Given the description of an element on the screen output the (x, y) to click on. 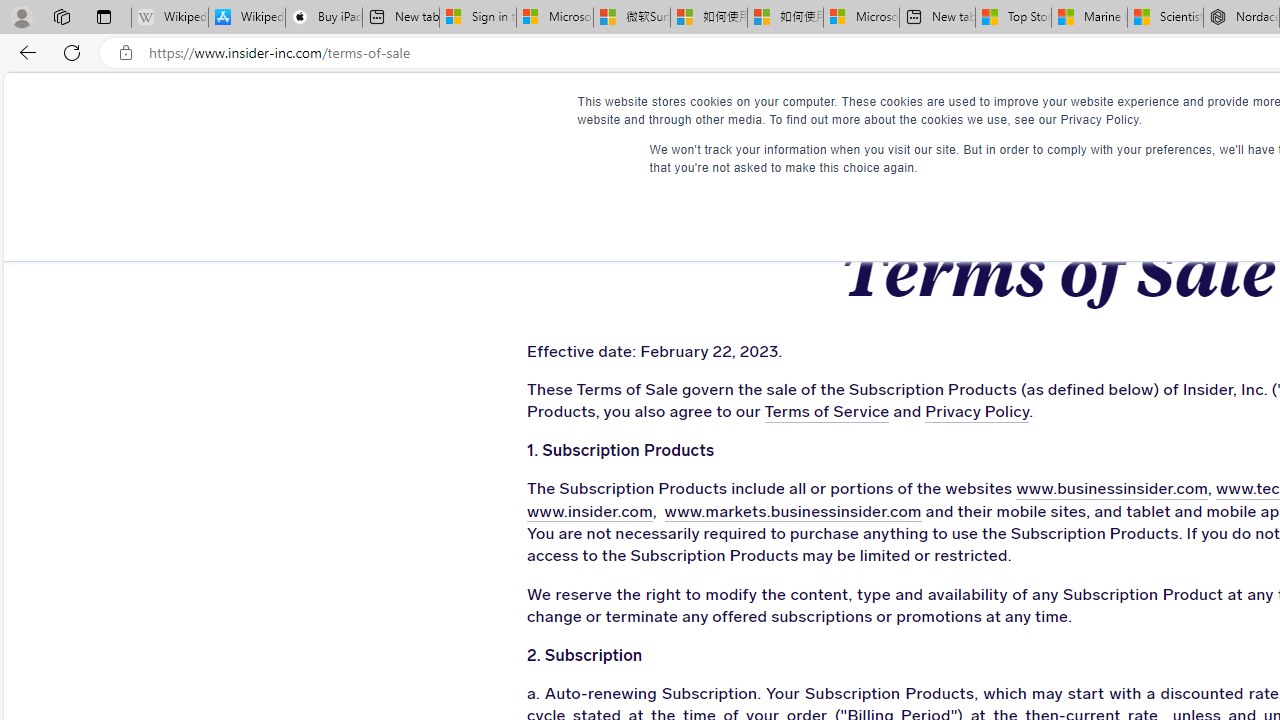
WHAT WE DO (458, 110)
www.businessinsider.com (1112, 489)
ADVERTISE WITH US (786, 110)
Marine life - MSN (1089, 17)
Buy iPad - Apple (323, 17)
